Given the description of an element on the screen output the (x, y) to click on. 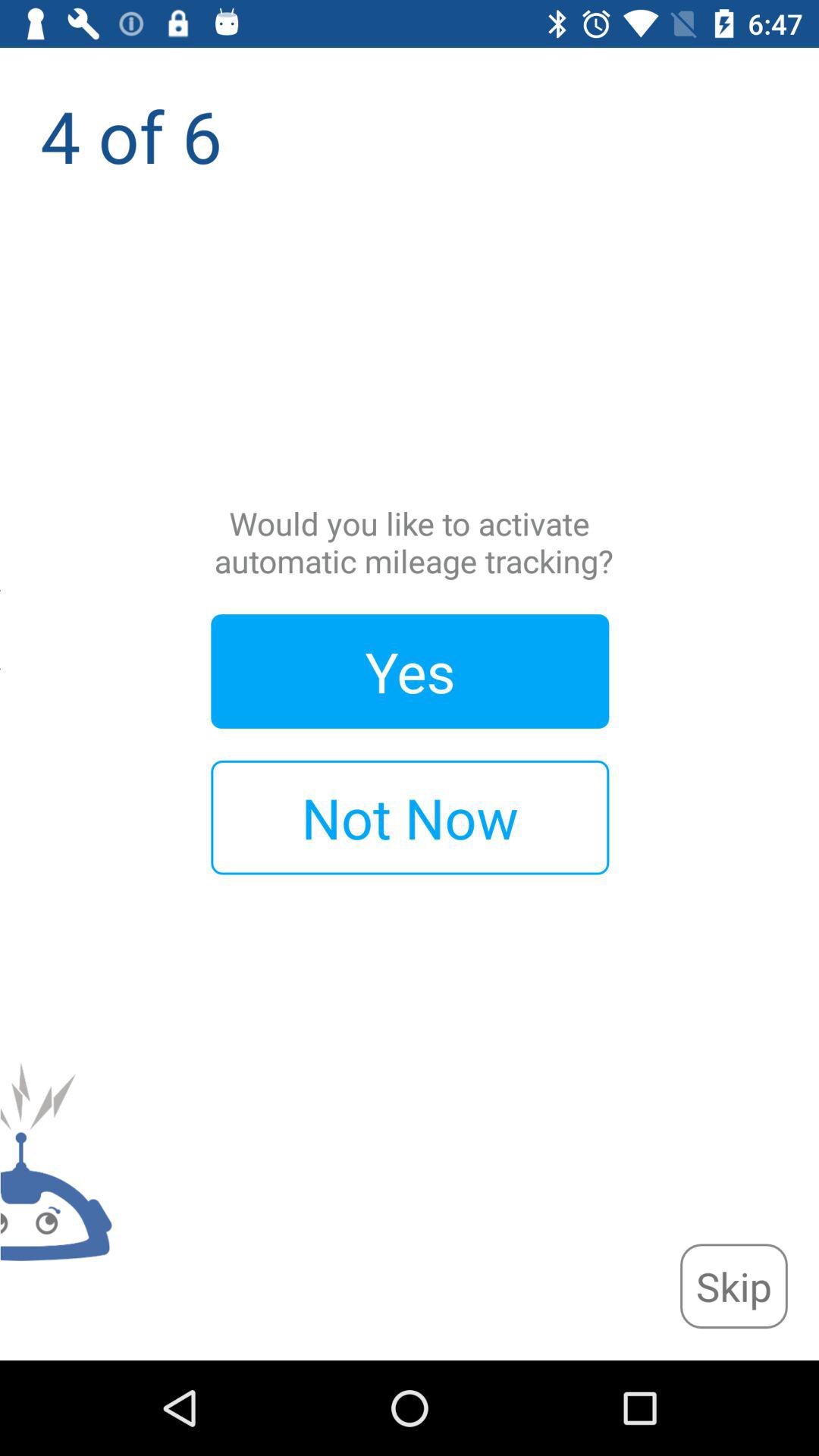
press the item below the 4 of 6 app (733, 1285)
